Given the description of an element on the screen output the (x, y) to click on. 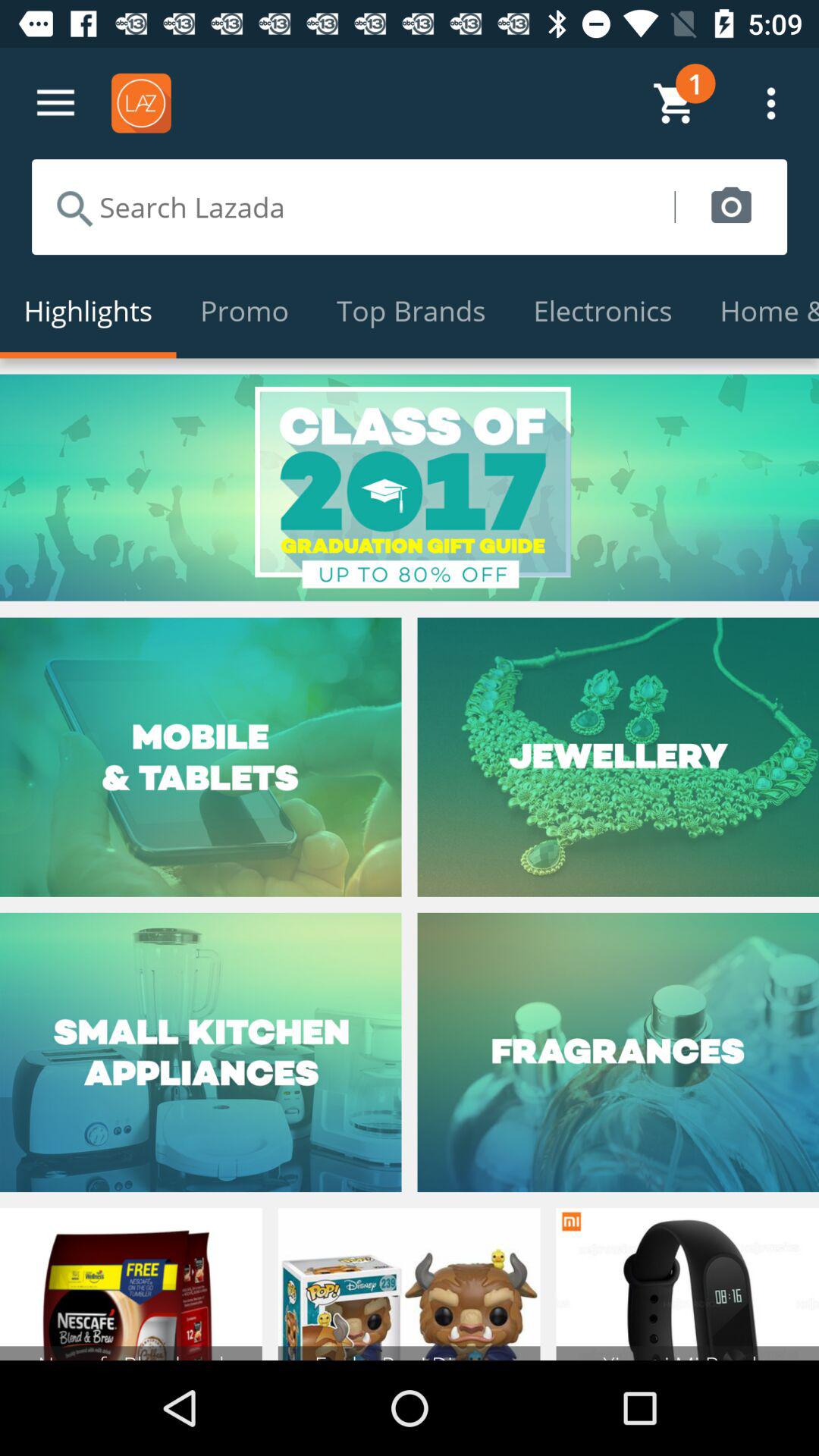
choose the icon above highlights icon (352, 206)
